Given the description of an element on the screen output the (x, y) to click on. 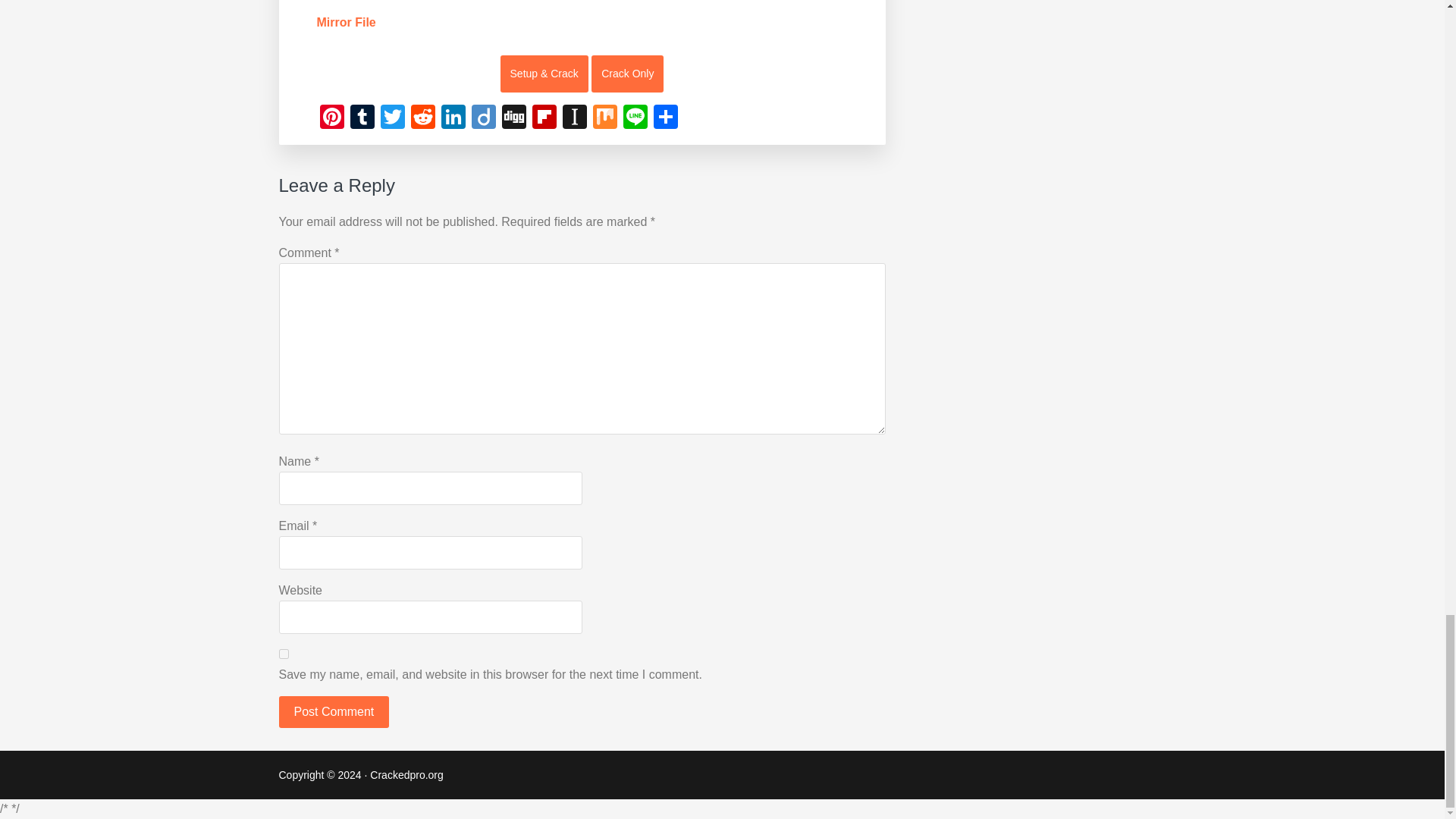
Instapaper (574, 118)
Instapaper (574, 118)
Diigo (483, 118)
Mix (604, 118)
Twitter (392, 118)
Pinterest (332, 118)
Flipboard (544, 118)
Post Comment (334, 712)
Crack Only (627, 73)
Tumblr (362, 118)
Digg (514, 118)
yes (283, 654)
LinkedIn (453, 118)
Twitter (392, 118)
Flipboard (544, 118)
